Given the description of an element on the screen output the (x, y) to click on. 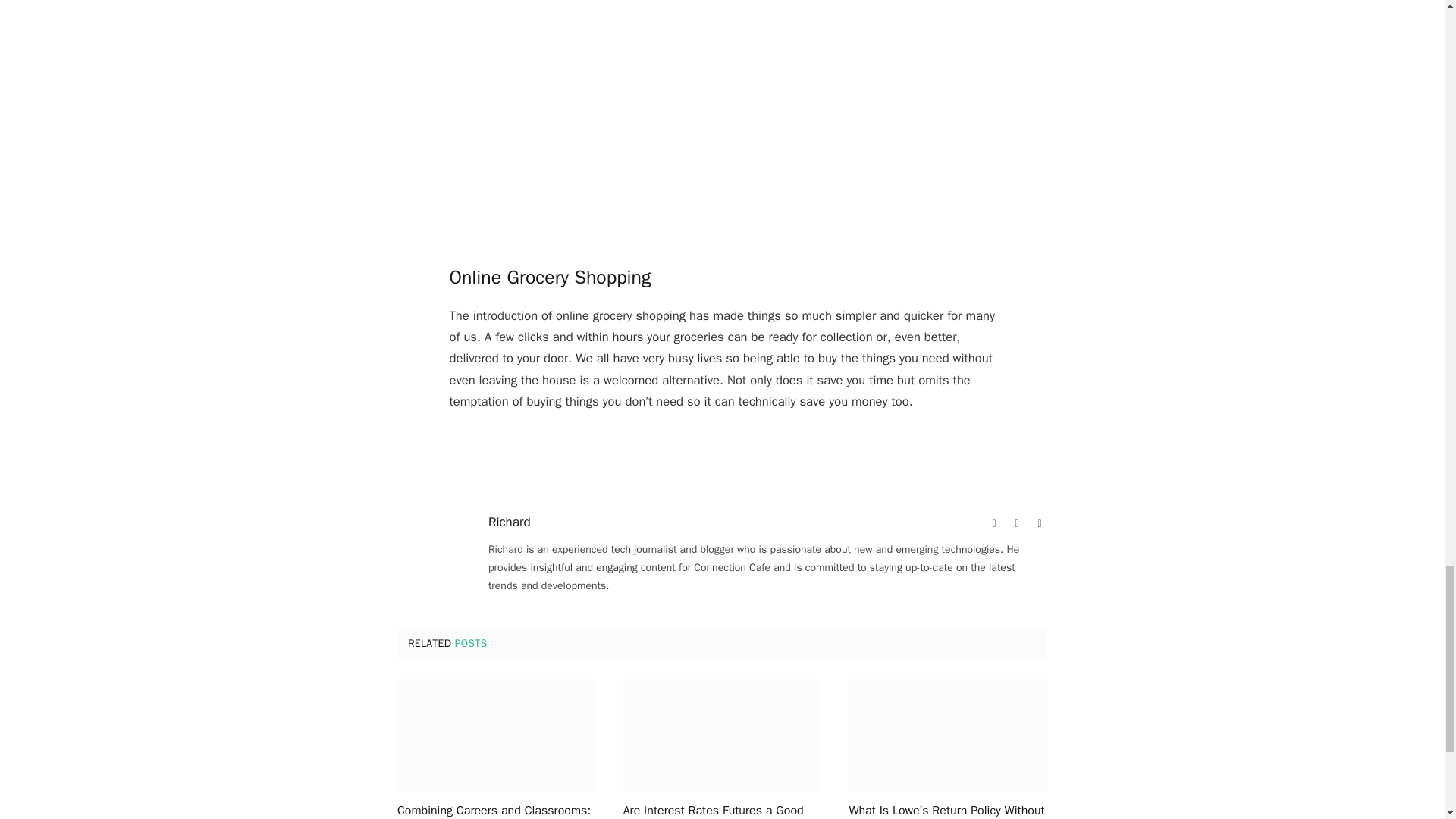
Facebook (1017, 523)
Posts by Richard (509, 522)
Twitter (1039, 523)
Website (994, 523)
Are Interest Rates Futures a Good Investment? (722, 735)
